Given the description of an element on the screen output the (x, y) to click on. 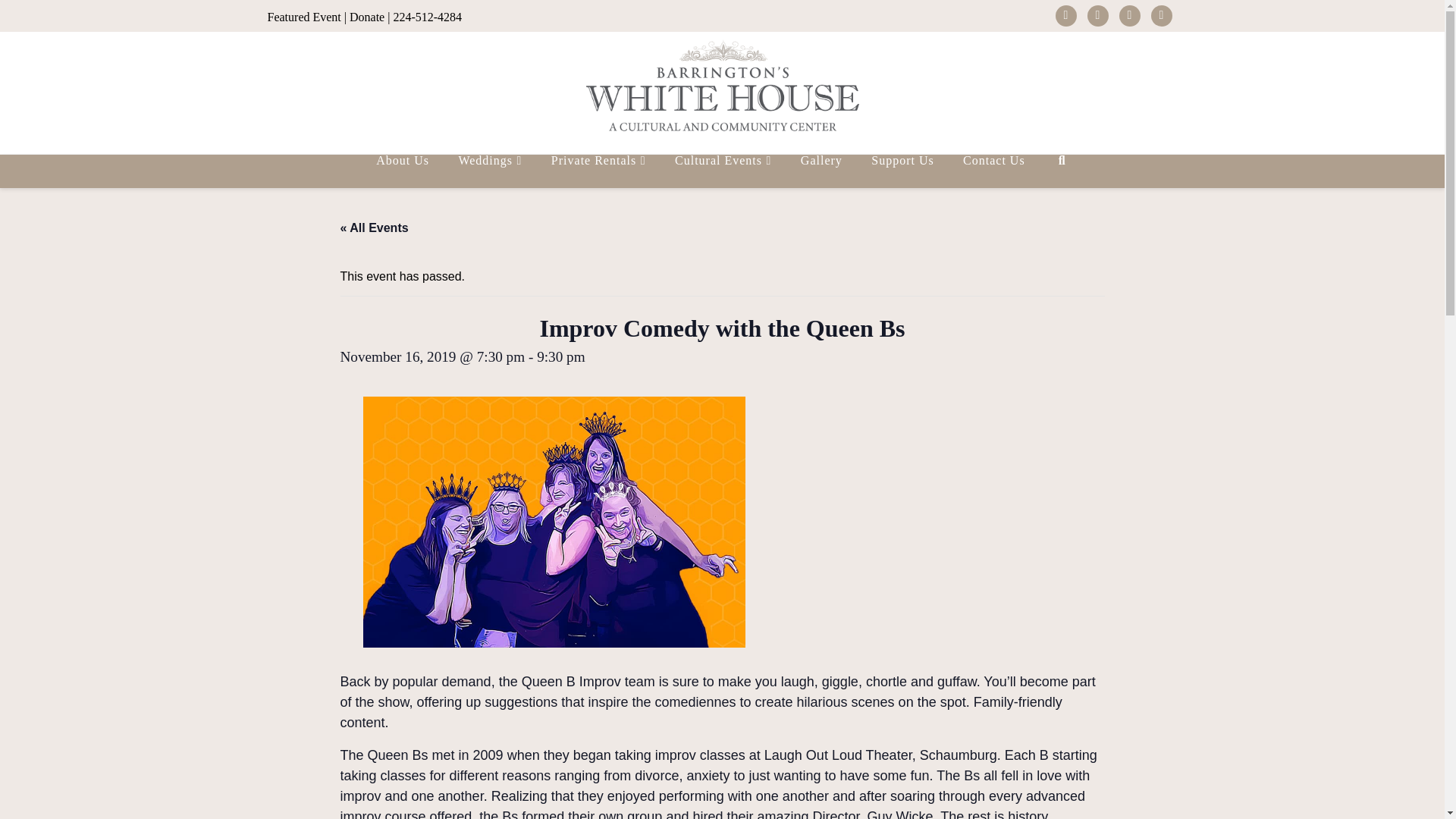
Support Us (901, 171)
Facebook (1066, 15)
Donate (366, 16)
Contact Us (993, 171)
Featured Event (303, 16)
YouTube (1129, 15)
Cultural Events (722, 171)
Gallery (821, 171)
About Us (401, 171)
224-512-4284 (427, 16)
